Given the description of an element on the screen output the (x, y) to click on. 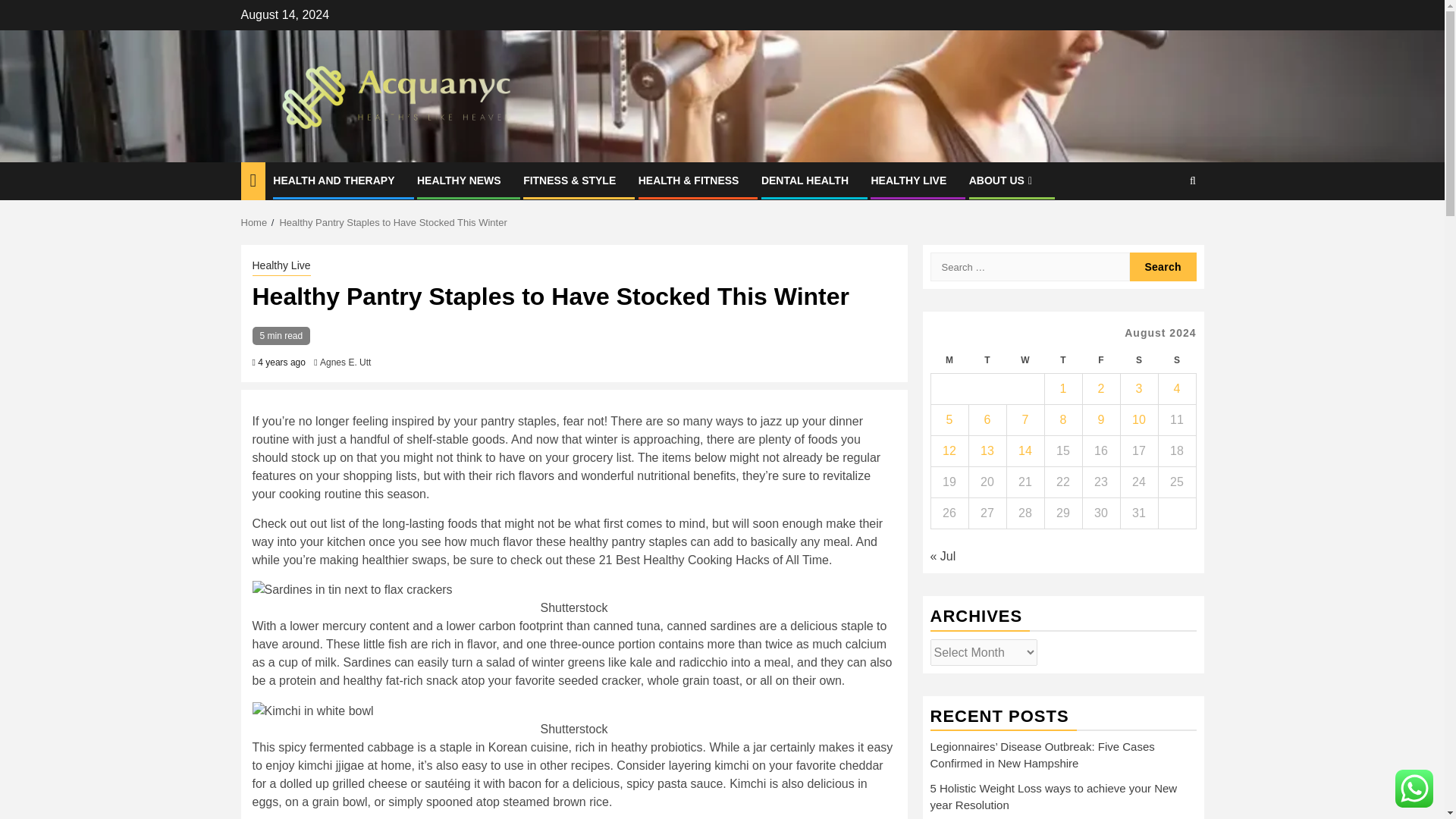
Healthy Pantry Staples to Have Stocked This Winter (392, 222)
Home (254, 222)
Saturday (1138, 360)
Wednesday (1024, 360)
Search (1162, 266)
Healthy Live (280, 266)
Tuesday (987, 360)
Friday (1100, 360)
HEALTHY NEWS (458, 180)
Agnes E. Utt (345, 362)
